Given the description of an element on the screen output the (x, y) to click on. 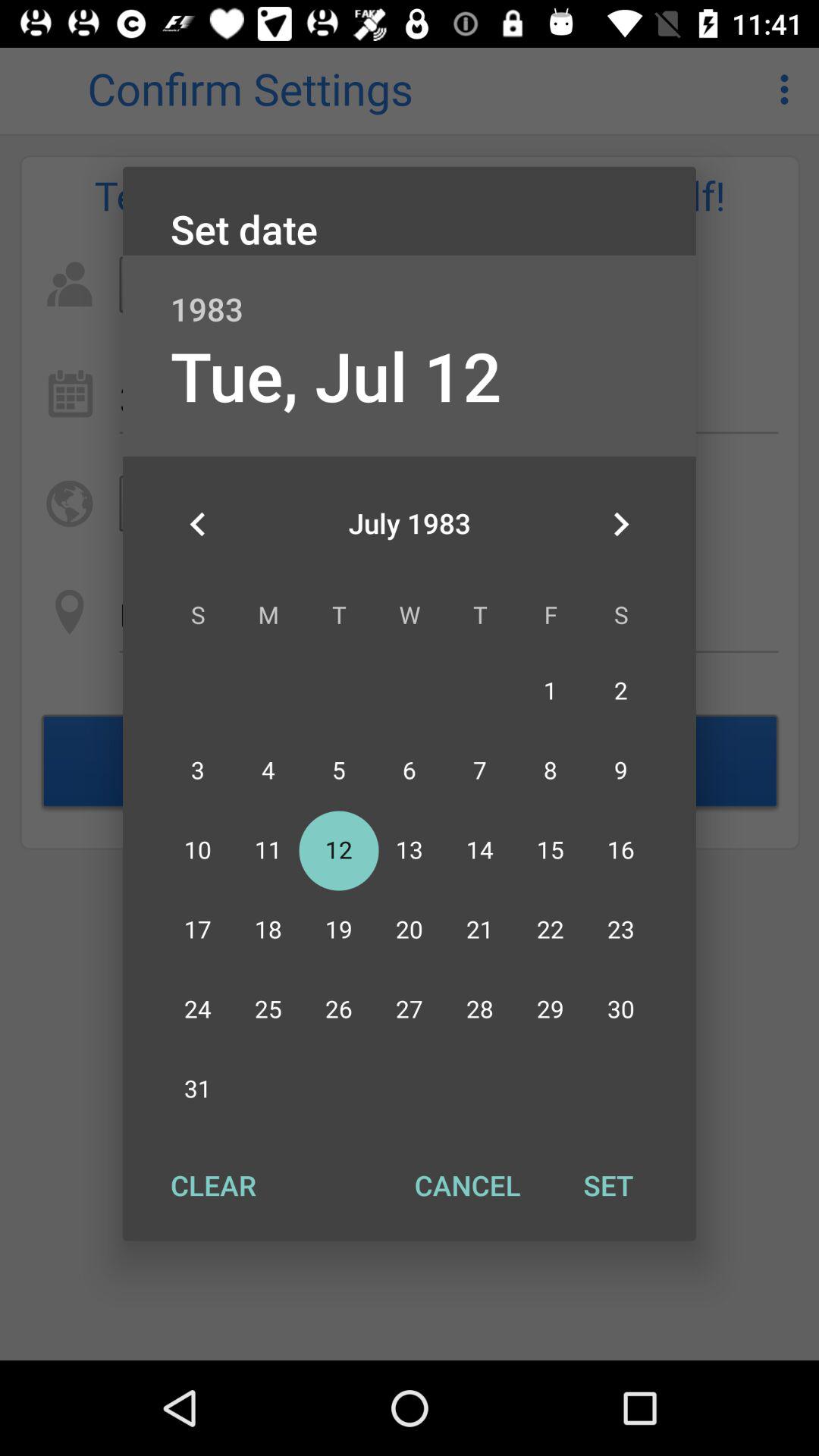
select app below the 1983 icon (620, 524)
